Given the description of an element on the screen output the (x, y) to click on. 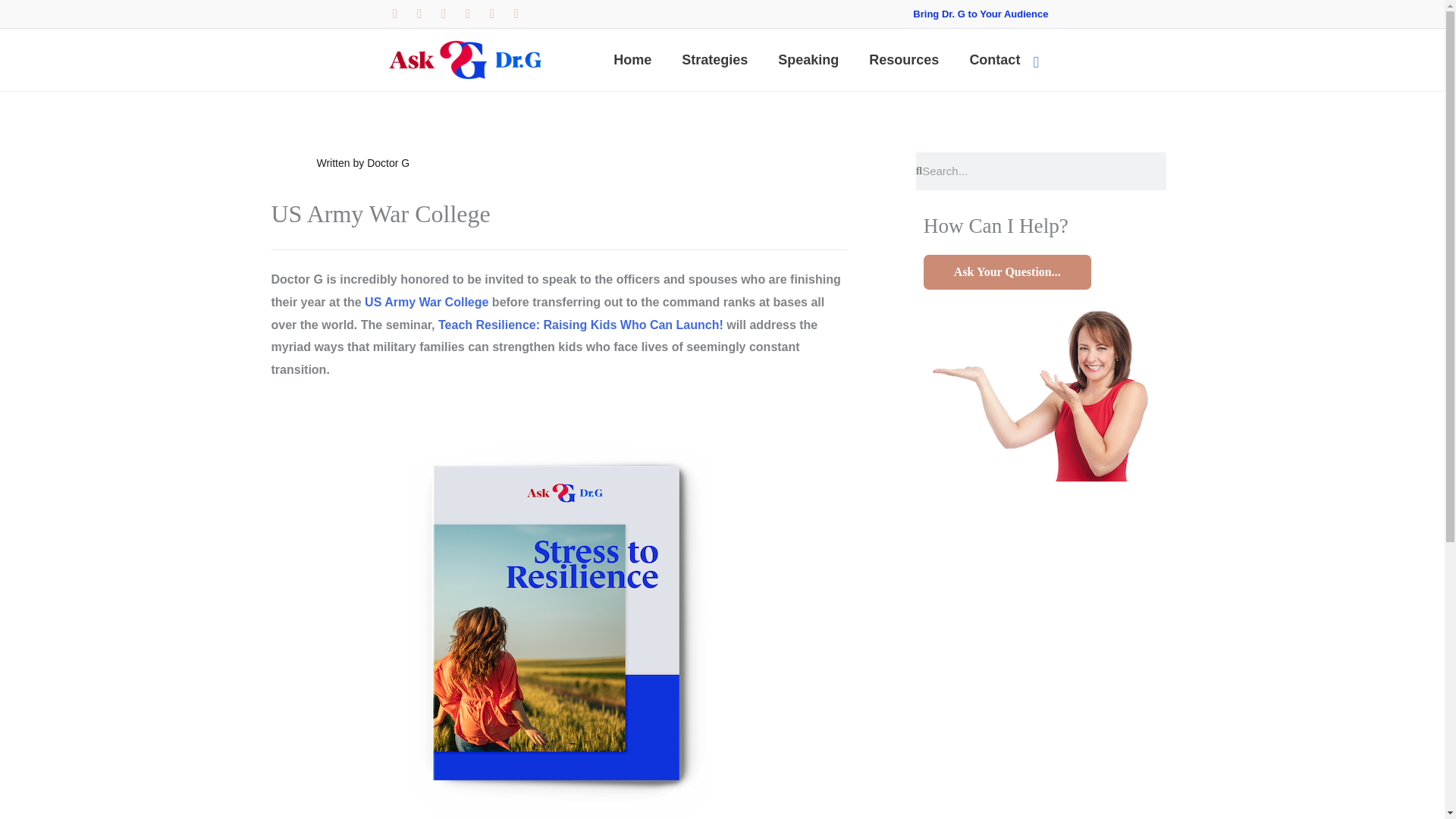
Bring Dr. G to Your Audience (980, 13)
Facebook (467, 13)
Speaking (807, 59)
Contact (994, 59)
Envelope (515, 13)
US Army War College (428, 301)
Instagram (442, 13)
Strategies (714, 59)
US Army War College (428, 301)
Youtube (490, 13)
